Given the description of an element on the screen output the (x, y) to click on. 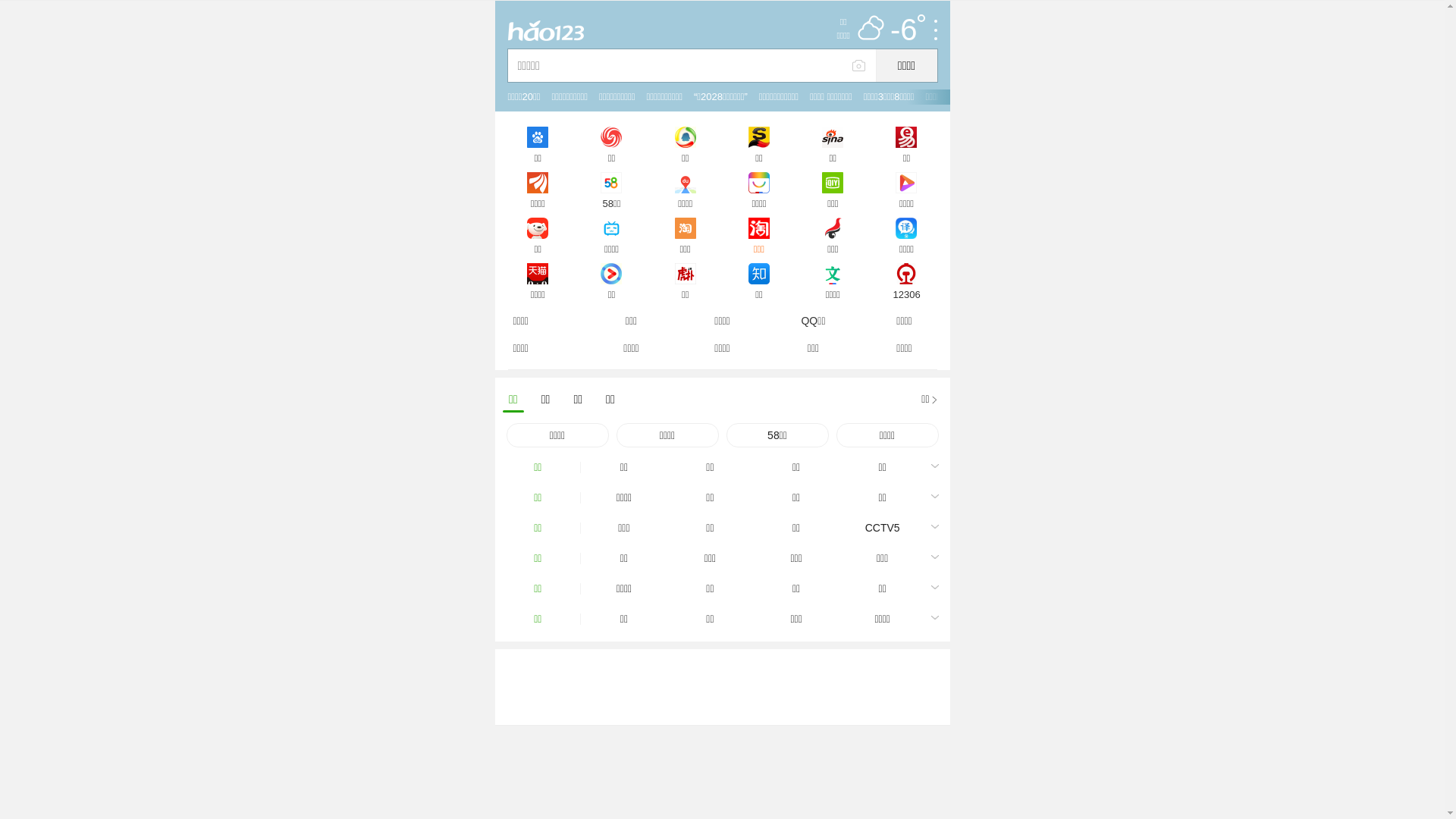
12306 Element type: text (906, 276)
CCTV5 Element type: text (882, 527)
-6 Element type: text (907, 31)
